Given the description of an element on the screen output the (x, y) to click on. 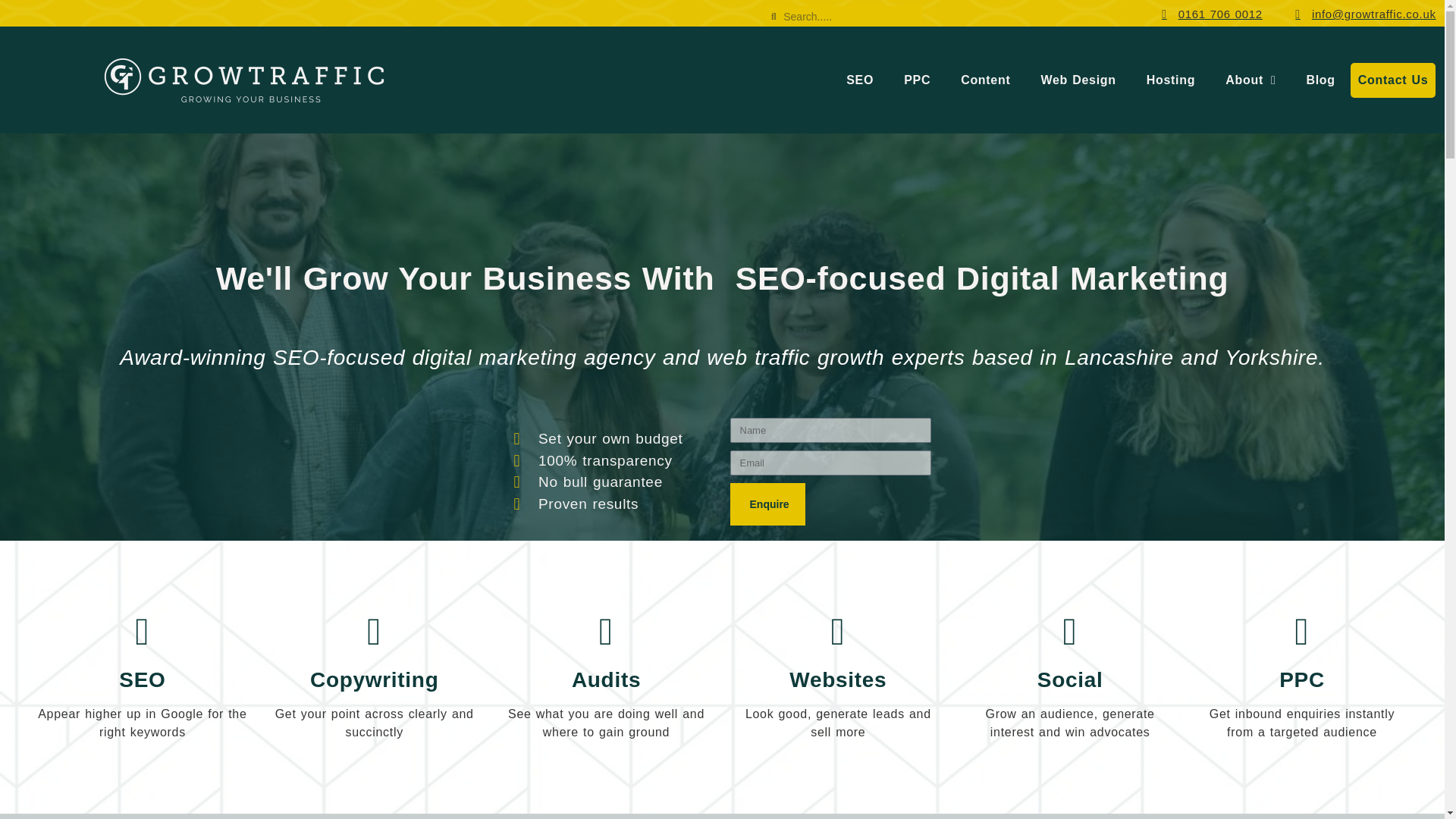
Blog (1319, 79)
Contact Us (1393, 79)
Content (984, 79)
Web Design (1078, 79)
0161 706 0012 (1206, 14)
PPC (916, 79)
Hosting (1170, 79)
About (1249, 79)
SEO (859, 79)
